Given the description of an element on the screen output the (x, y) to click on. 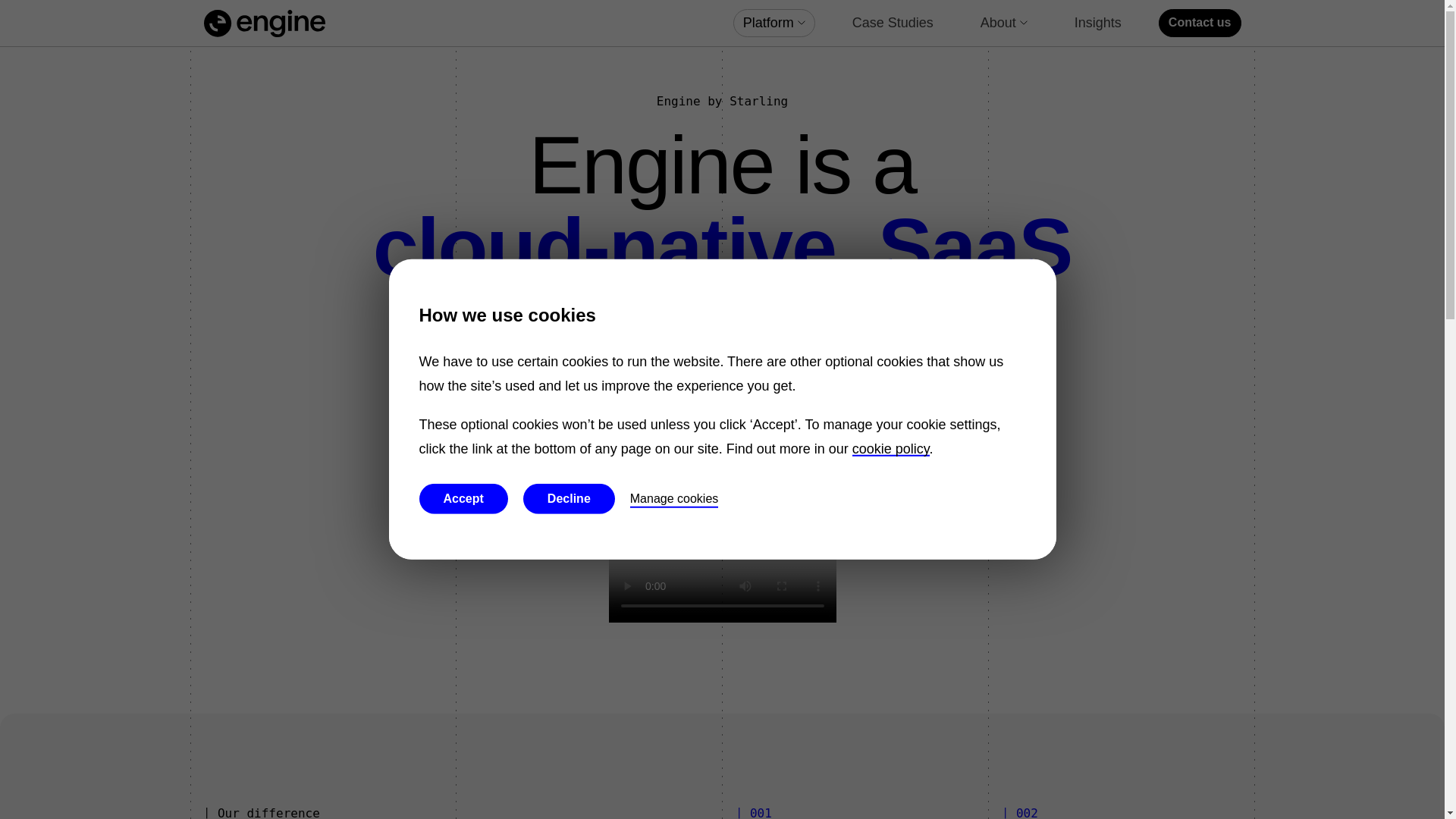
Case Studies (893, 22)
Decline (568, 499)
Insights (1097, 22)
Platform (774, 22)
Contact us (1199, 22)
About (1003, 22)
Accept (462, 499)
cookie policy (890, 448)
Download PDF (722, 466)
